Given the description of an element on the screen output the (x, y) to click on. 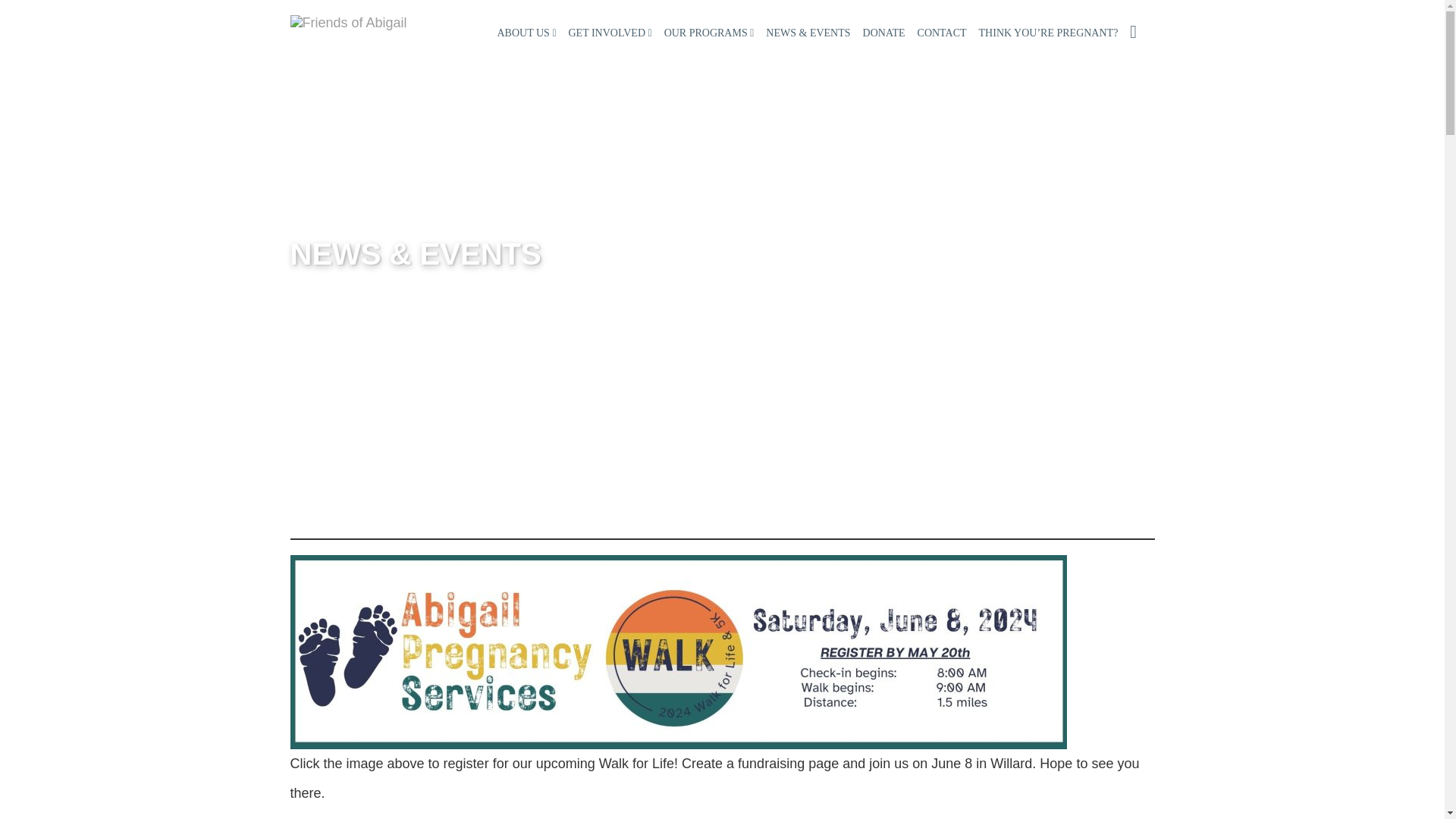
Contact (941, 33)
CONTACT (941, 33)
Our Programs (709, 33)
Think You're Pregnant? (1048, 33)
Donate (884, 33)
ABOUT US (527, 33)
About Us (527, 33)
Get Involved (610, 33)
DONATE (884, 33)
GET INVOLVED (610, 33)
